Given the description of an element on the screen output the (x, y) to click on. 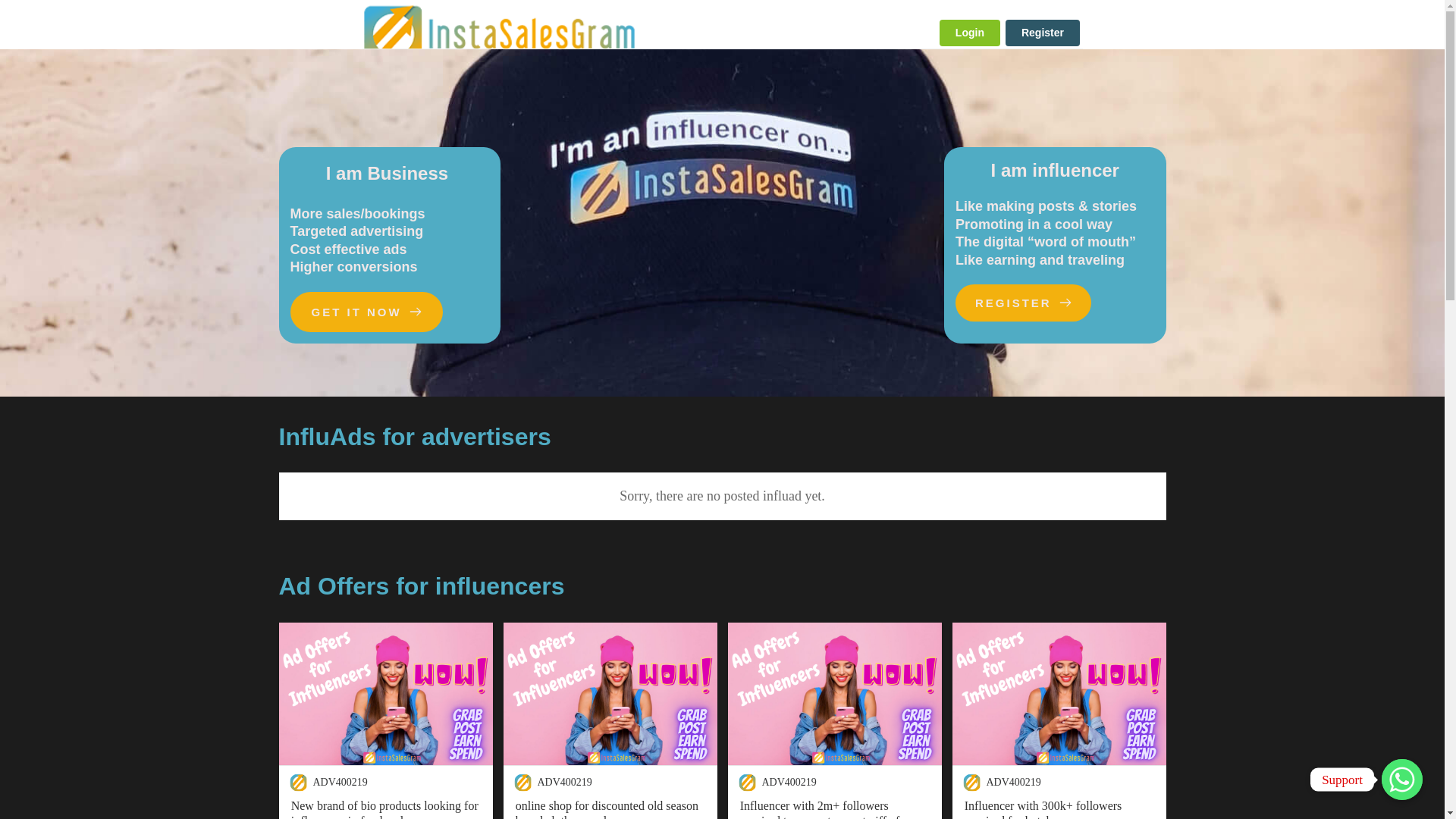
ADV400219 (1013, 782)
REGISTER (1022, 302)
ADV400219 (788, 782)
Register (1043, 32)
ADV400219 (564, 782)
ADV400219 (339, 782)
online shop for discounted old season brand clothes needs... (609, 808)
Login (969, 32)
GET IT NOW (365, 311)
